Given the description of an element on the screen output the (x, y) to click on. 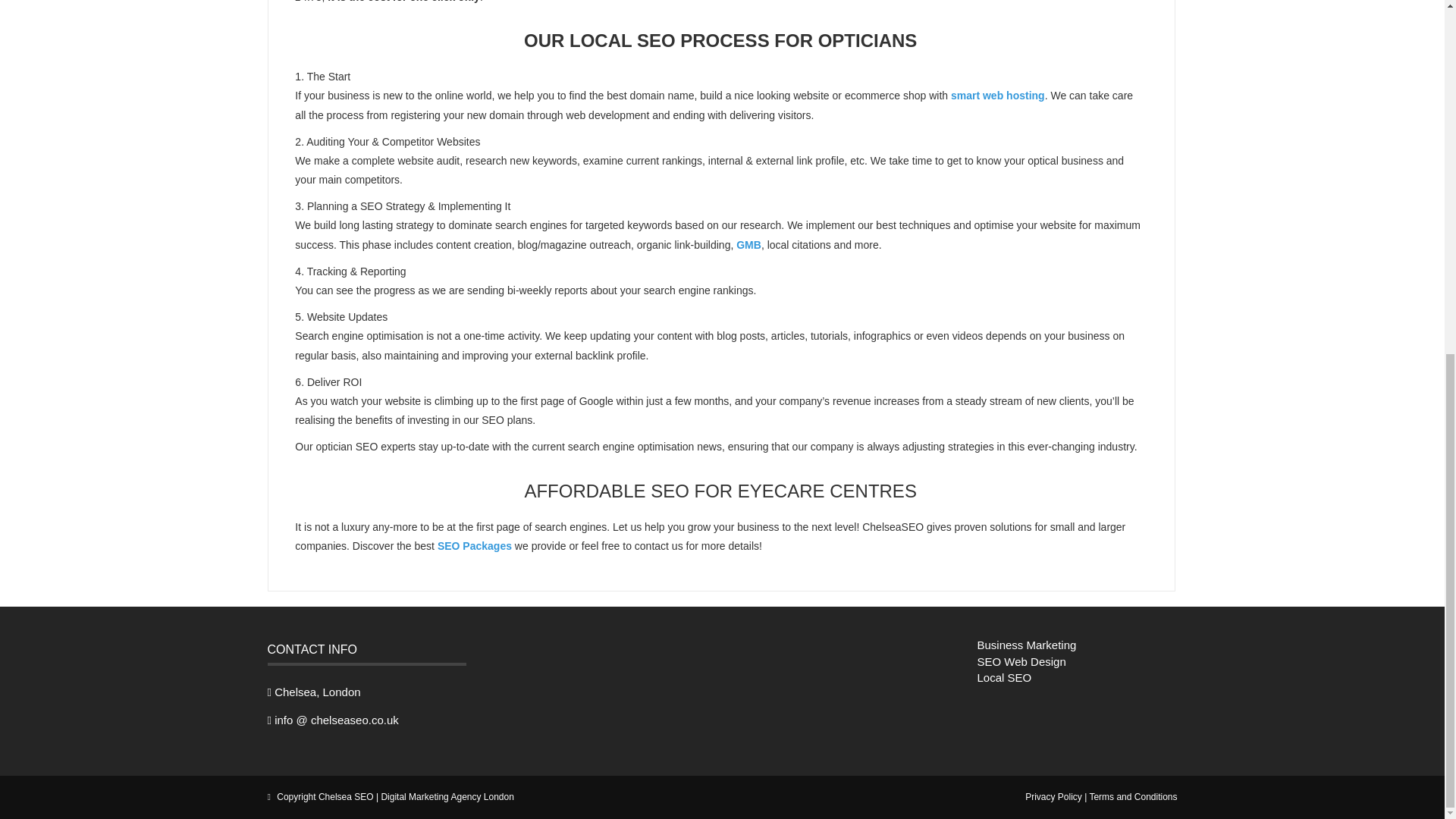
SEO Web Design (1020, 661)
Business Marketing (1025, 644)
Local SEO (1003, 676)
GMB (748, 244)
smart web hosting (997, 95)
Privacy Policy (1053, 796)
SEO Packages (475, 545)
Terms and Conditions (1132, 796)
